Given the description of an element on the screen output the (x, y) to click on. 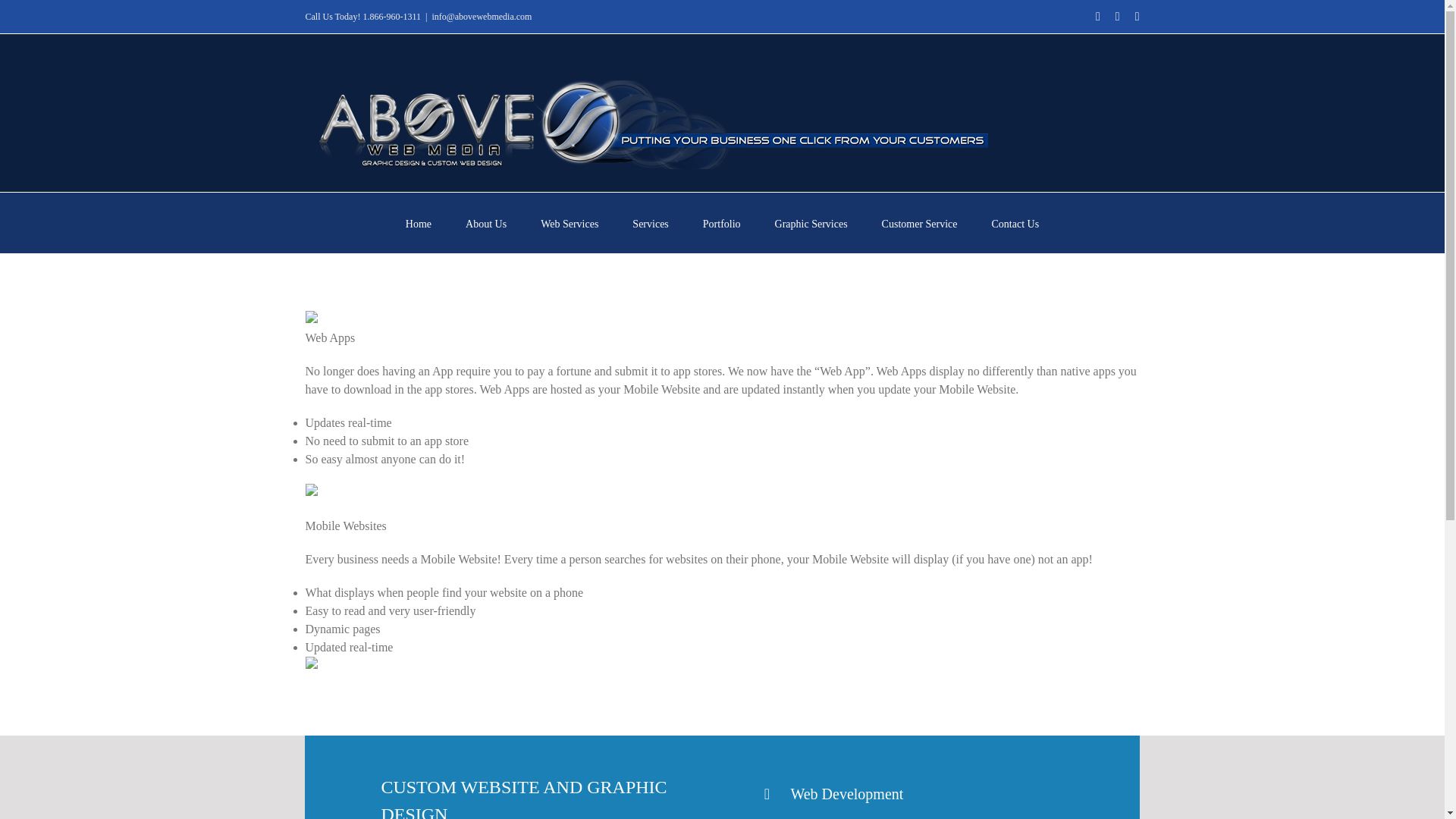
Web Services (569, 222)
Customer Service (920, 222)
Graphic Services (810, 222)
